Given the description of an element on the screen output the (x, y) to click on. 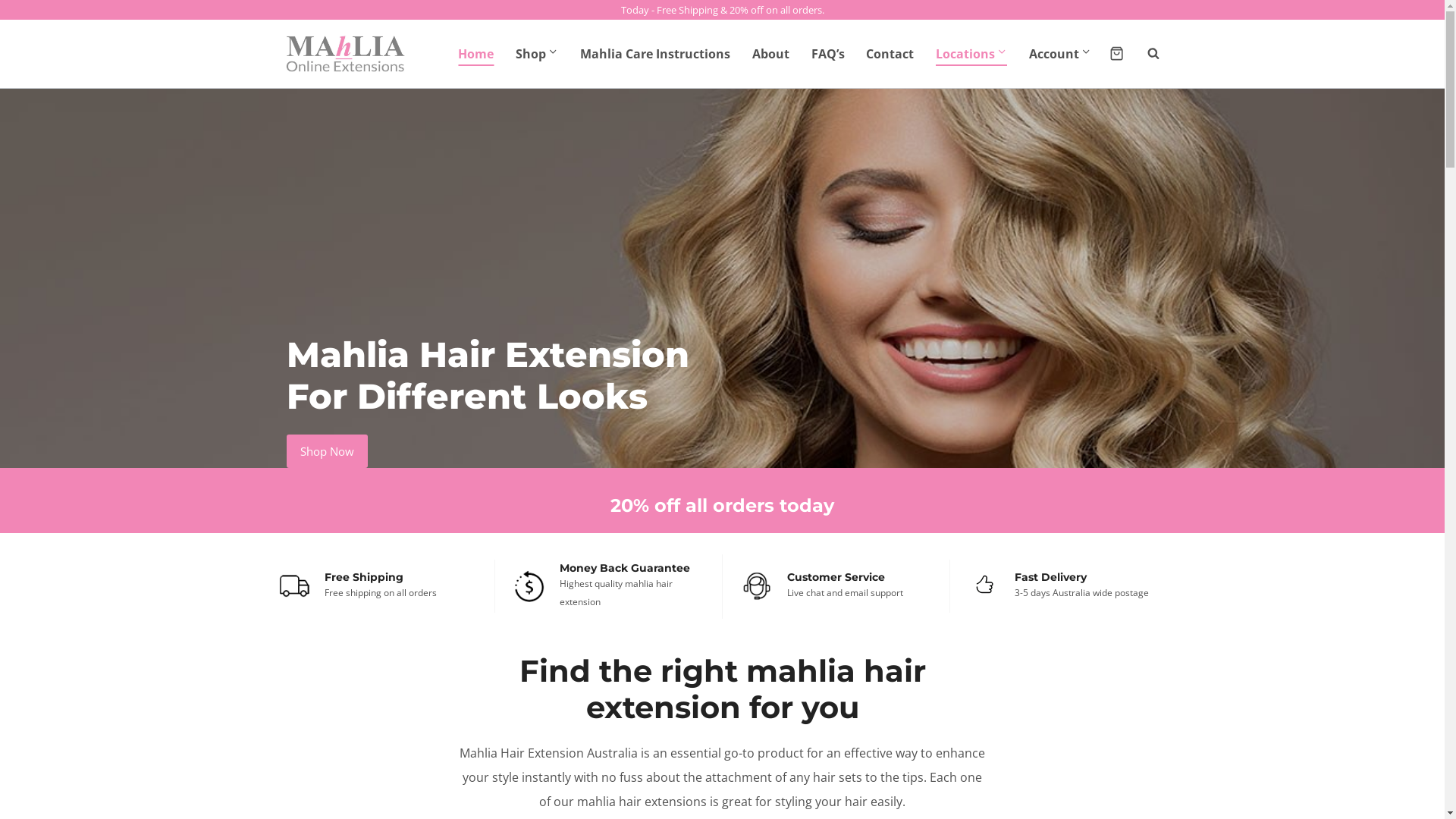
Shop Element type: text (537, 53)
Mahlia Care Instructions Element type: text (655, 53)
Home Element type: text (476, 53)
About Element type: text (770, 53)
Account Element type: text (1060, 53)
Shop Now Element type: text (326, 450)
Contact Element type: text (890, 53)
Locations Element type: text (971, 53)
